Given the description of an element on the screen output the (x, y) to click on. 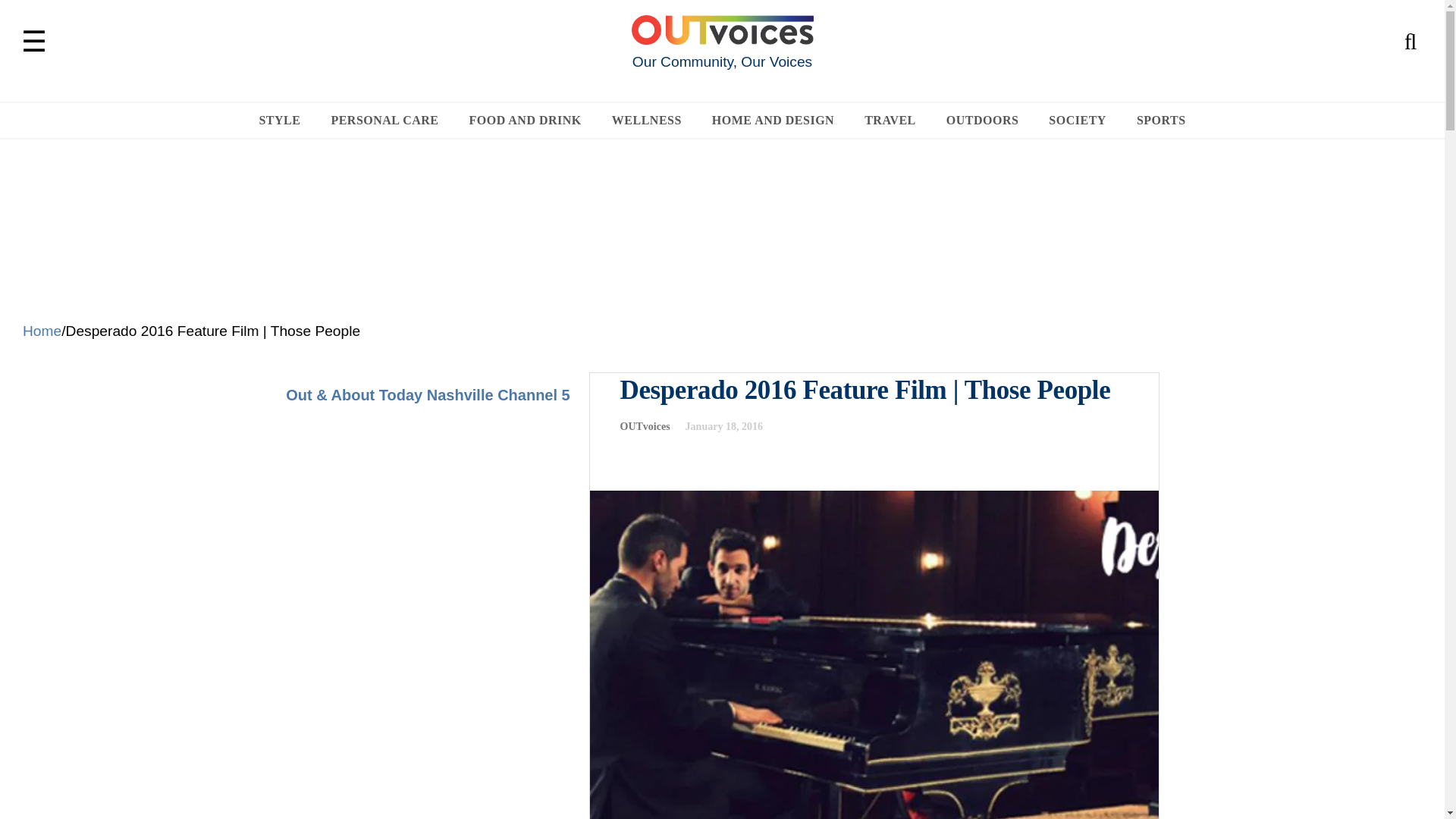
YouTube video player (427, 553)
